Given the description of an element on the screen output the (x, y) to click on. 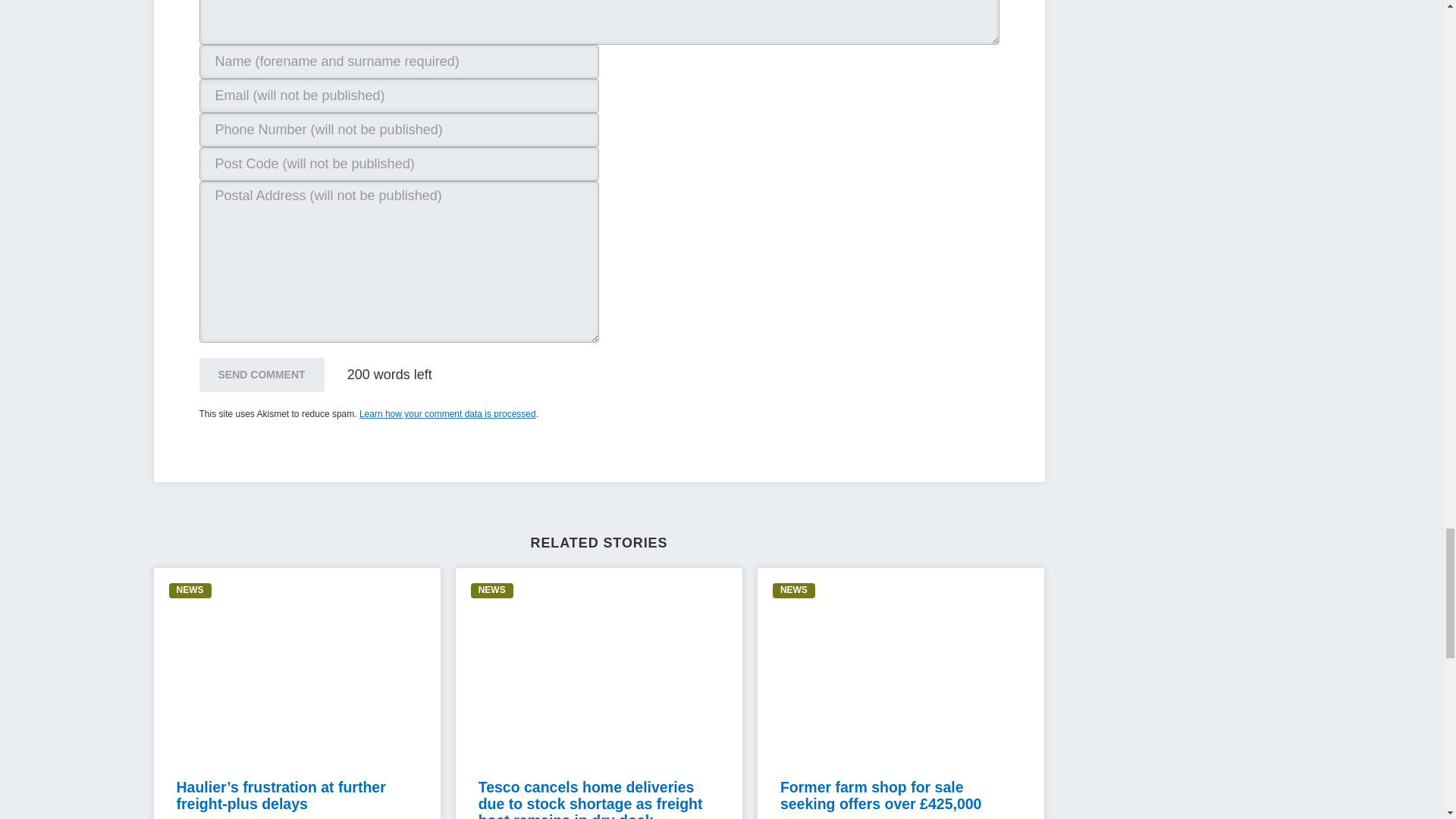
SEND COMMENT (260, 374)
NEWS (189, 590)
NEWS (491, 590)
Learn how your comment data is processed (447, 413)
